Given the description of an element on the screen output the (x, y) to click on. 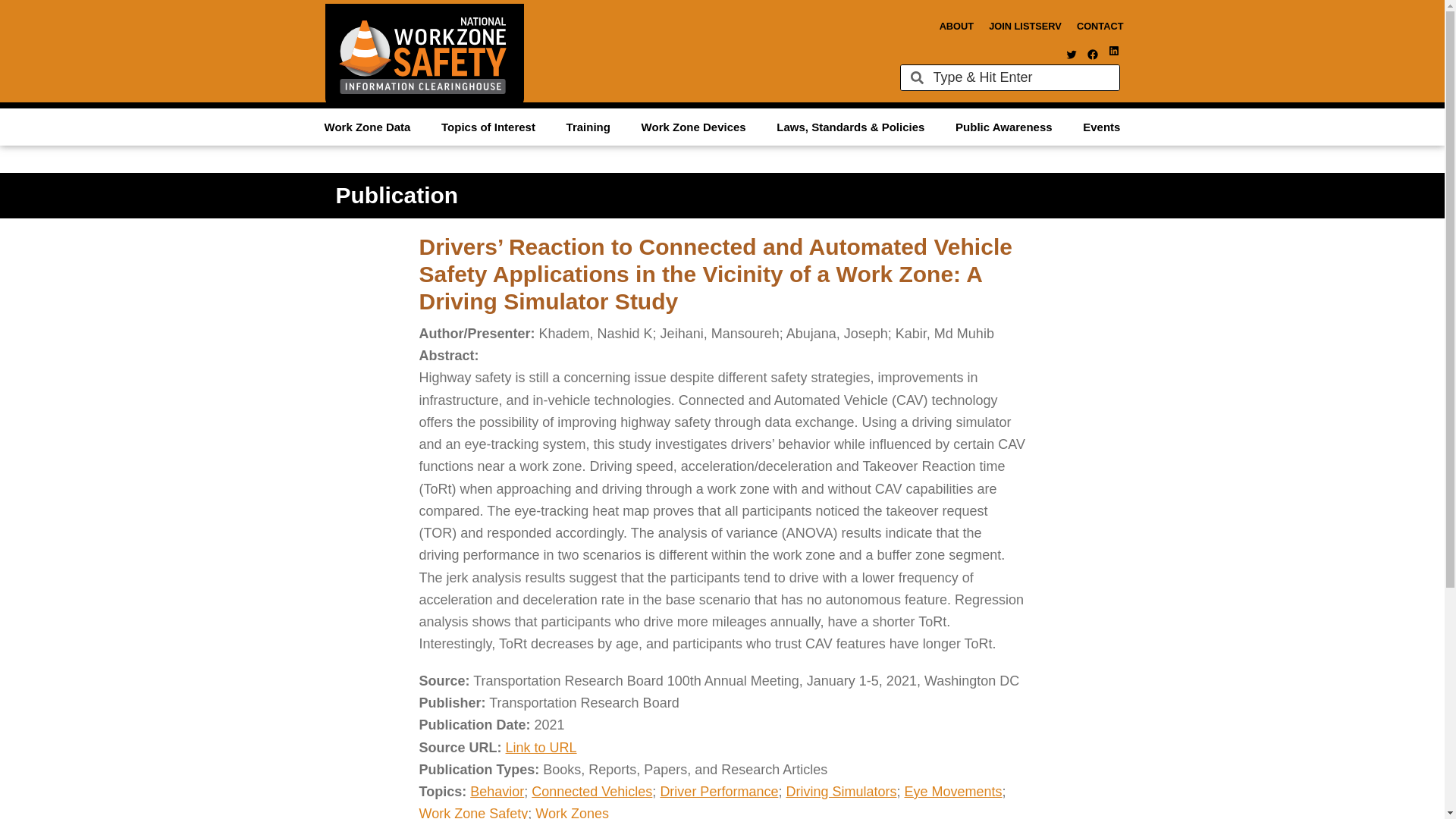
ABOUT (956, 25)
Link to URL (540, 747)
Work Zone Data (367, 126)
Topics of Interest (488, 126)
Public Awareness (1003, 126)
LINKEDIN (1112, 50)
FACEBOOK (1091, 54)
CONTACT (1100, 25)
Events (1101, 126)
Work Zone Devices (693, 126)
